Given the description of an element on the screen output the (x, y) to click on. 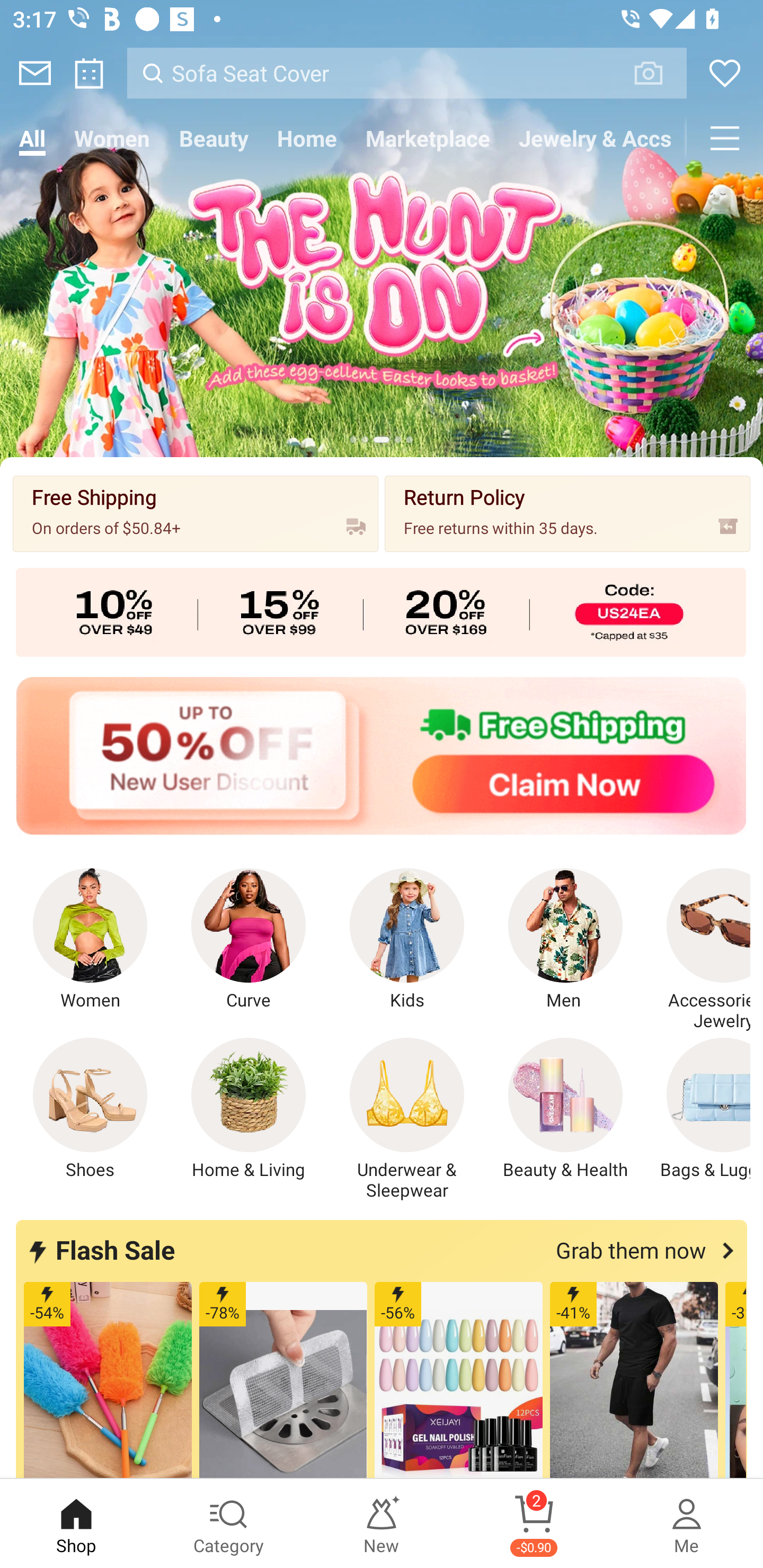
Wishlist (724, 72)
VISUAL SEARCH (657, 72)
All (31, 137)
Women (111, 137)
Beauty (213, 137)
Home (306, 137)
Marketplace (427, 137)
Jewelry & Accs (595, 137)
Free Shipping On orders of $50.84+ (195, 513)
Return Policy Free returns within 35 days. (567, 513)
Women (89, 939)
Curve (248, 939)
Kids (406, 939)
Men  (565, 939)
Accessories & Jewelry (698, 949)
Shoes (89, 1109)
Home & Living (248, 1109)
Underwear & Sleepwear (406, 1119)
Beauty & Health (565, 1109)
Bags & Luggage (698, 1109)
Category (228, 1523)
New (381, 1523)
Cart 2 -$0.90 (533, 1523)
Me (686, 1523)
